Given the description of an element on the screen output the (x, y) to click on. 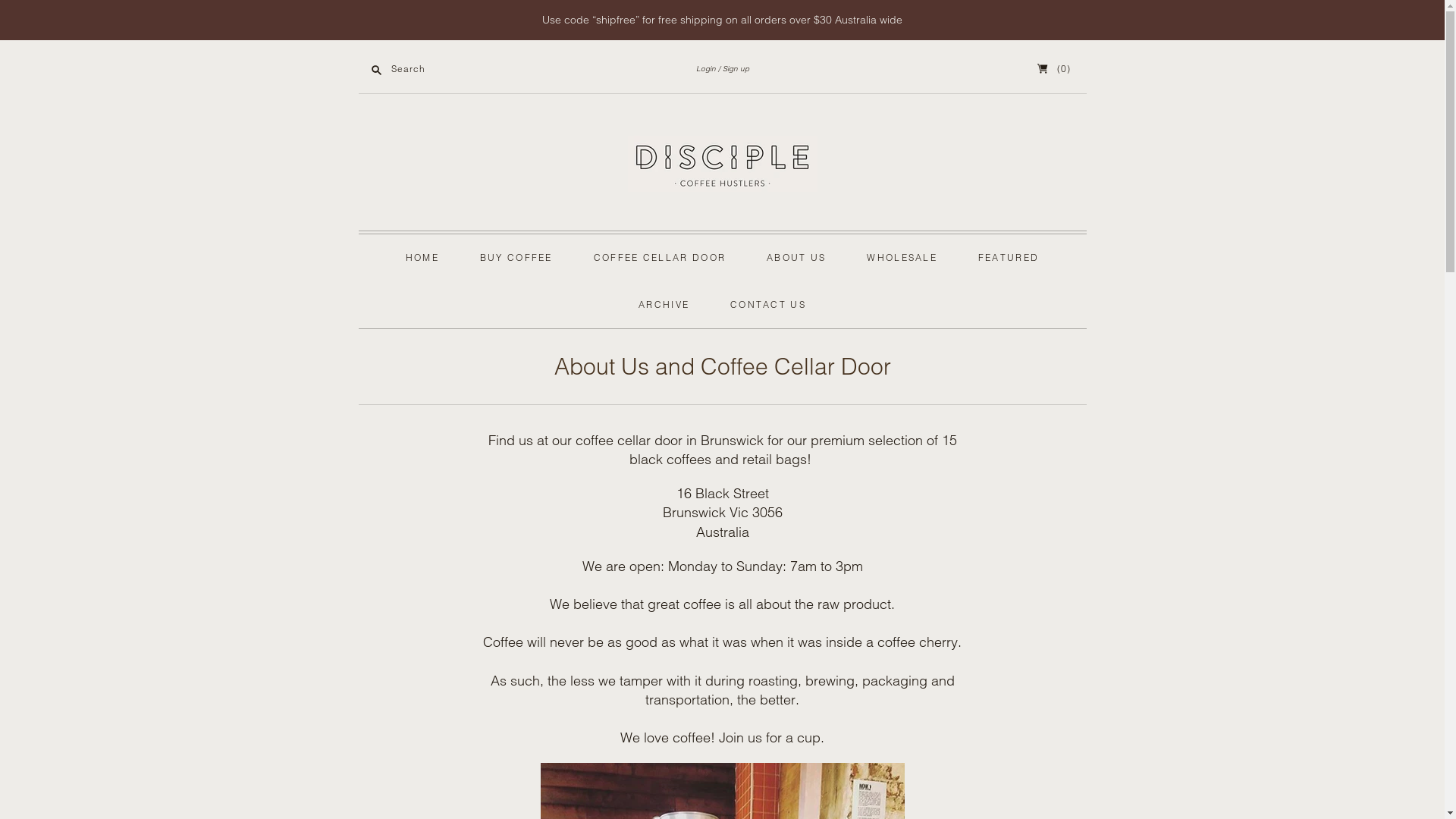
FEATURED Element type: text (1008, 257)
Login Element type: text (705, 68)
BUY COFFEE Element type: text (516, 257)
HOME Element type: text (422, 257)
(0) Element type: text (1054, 68)
COFFEE CELLAR DOOR Element type: text (659, 257)
CONTACT US Element type: text (767, 304)
ABOUT US Element type: text (796, 257)
WHOLESALE Element type: text (901, 257)
ARCHIVE Element type: text (663, 304)
Sign up Element type: text (732, 68)
